Given the description of an element on the screen output the (x, y) to click on. 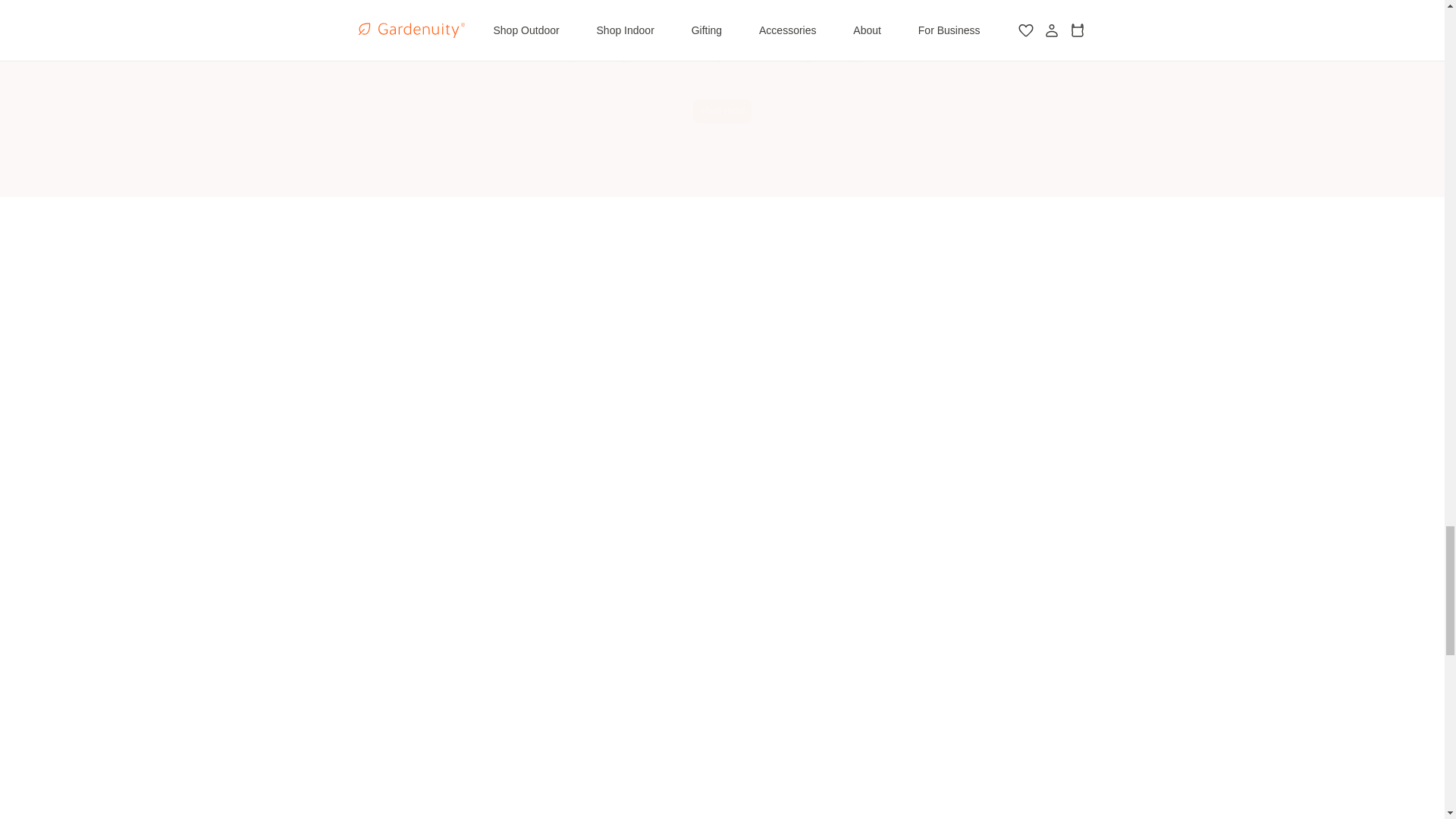
Gardenuity: the better way to grow (940, 592)
